Given the description of an element on the screen output the (x, y) to click on. 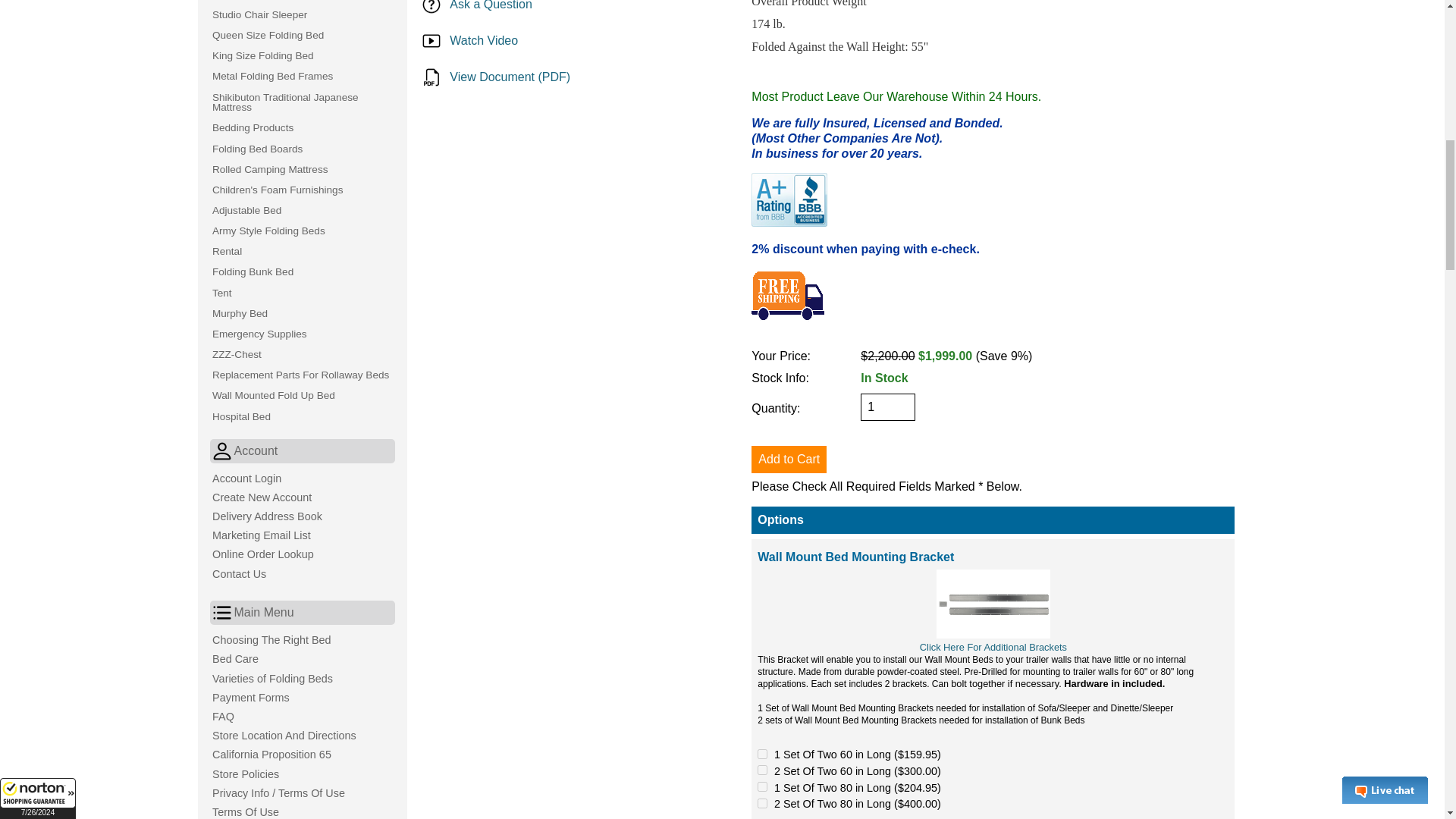
Click Here For Additional Brackets (993, 646)
1 (887, 406)
Add to Cart (789, 459)
Quantity (887, 406)
Add to Cart (789, 459)
